Given the description of an element on the screen output the (x, y) to click on. 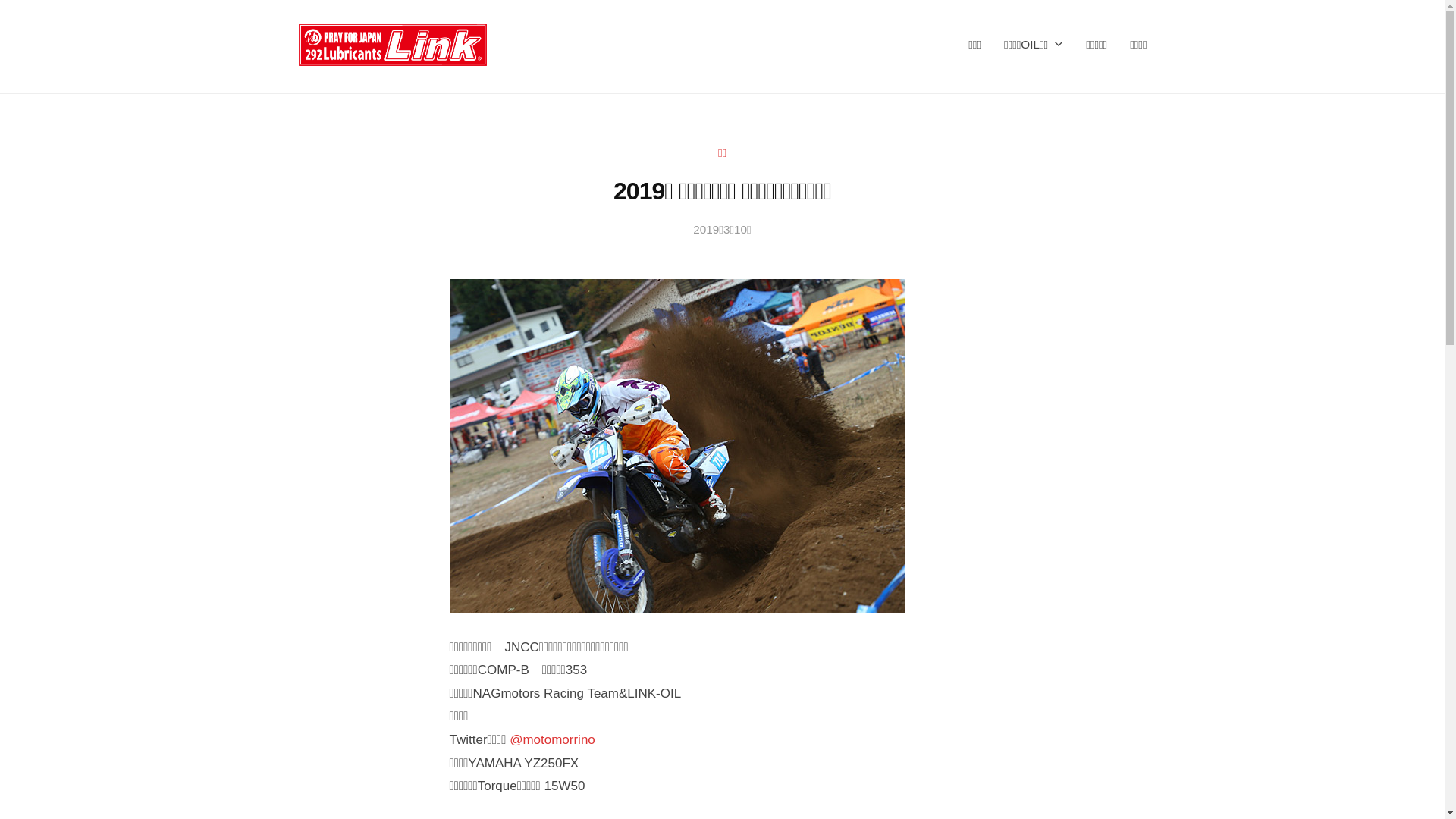
@motomorrino Element type: text (552, 739)
